Given the description of an element on the screen output the (x, y) to click on. 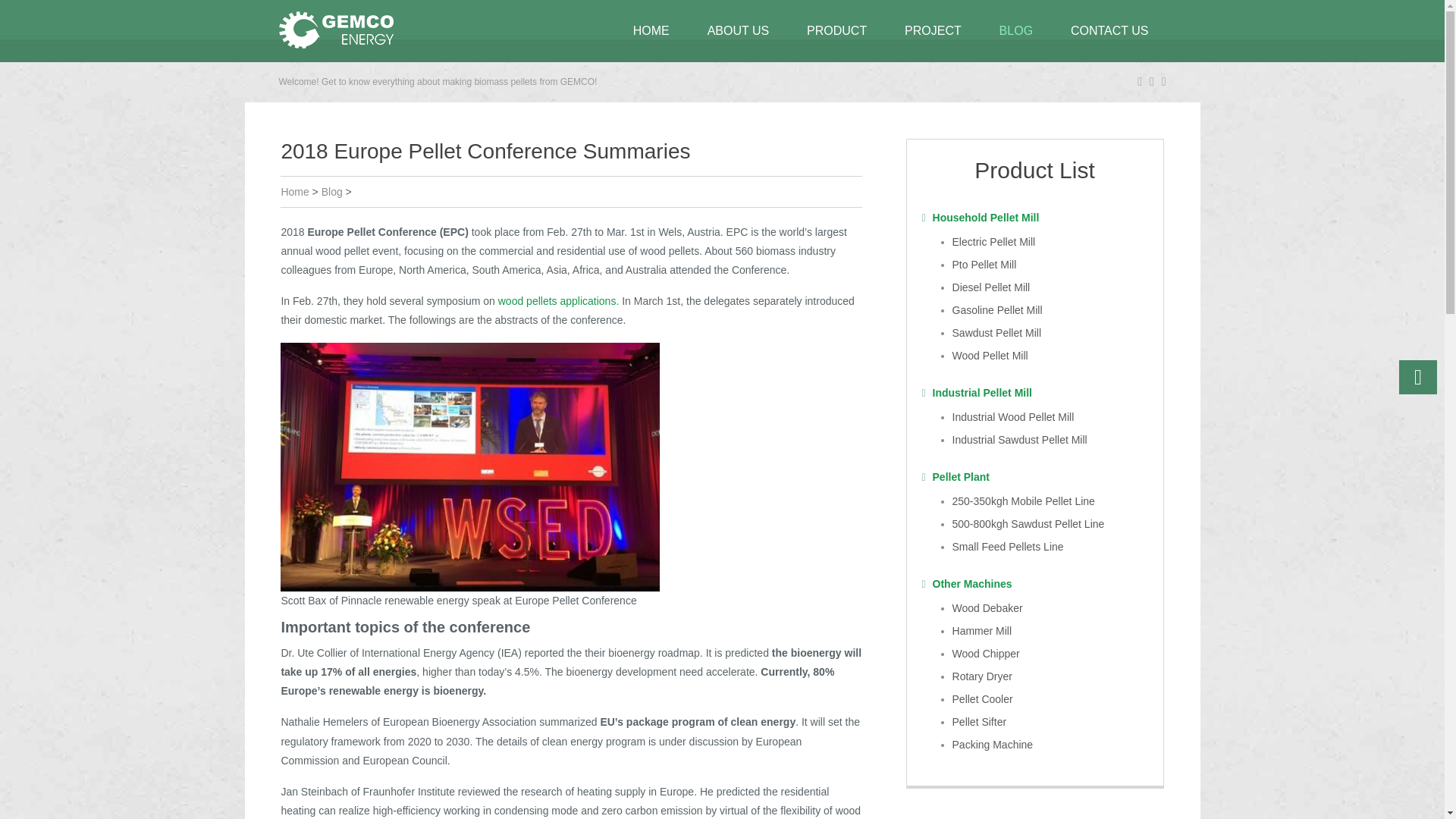
wood pellets applications. (558, 300)
HOME (651, 31)
Blog (331, 191)
BLOG (1015, 31)
Product List (1034, 170)
Home (294, 191)
CONTACT US (1109, 31)
PROJECT (932, 31)
PRODUCT (836, 31)
ABOUT US (738, 31)
